Given the description of an element on the screen output the (x, y) to click on. 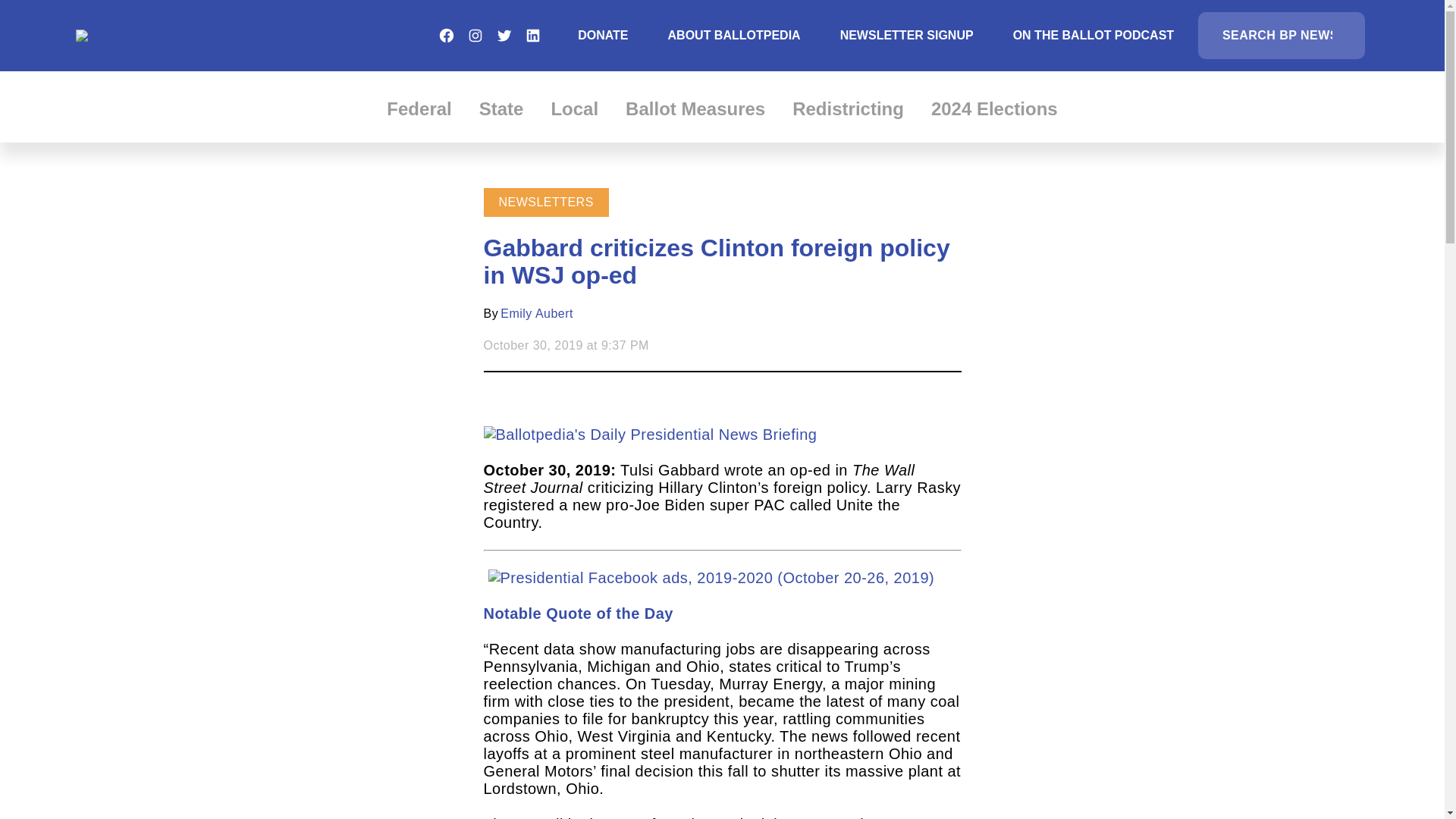
NEWSLETTERS (546, 201)
Local (574, 108)
ON THE BALLOT PODCAST (1093, 35)
DONATE (602, 35)
Emily Aubert (536, 313)
Facebook (446, 35)
Instagram (475, 35)
Ballot Measures (695, 108)
State (501, 108)
Twitter (504, 35)
